Given the description of an element on the screen output the (x, y) to click on. 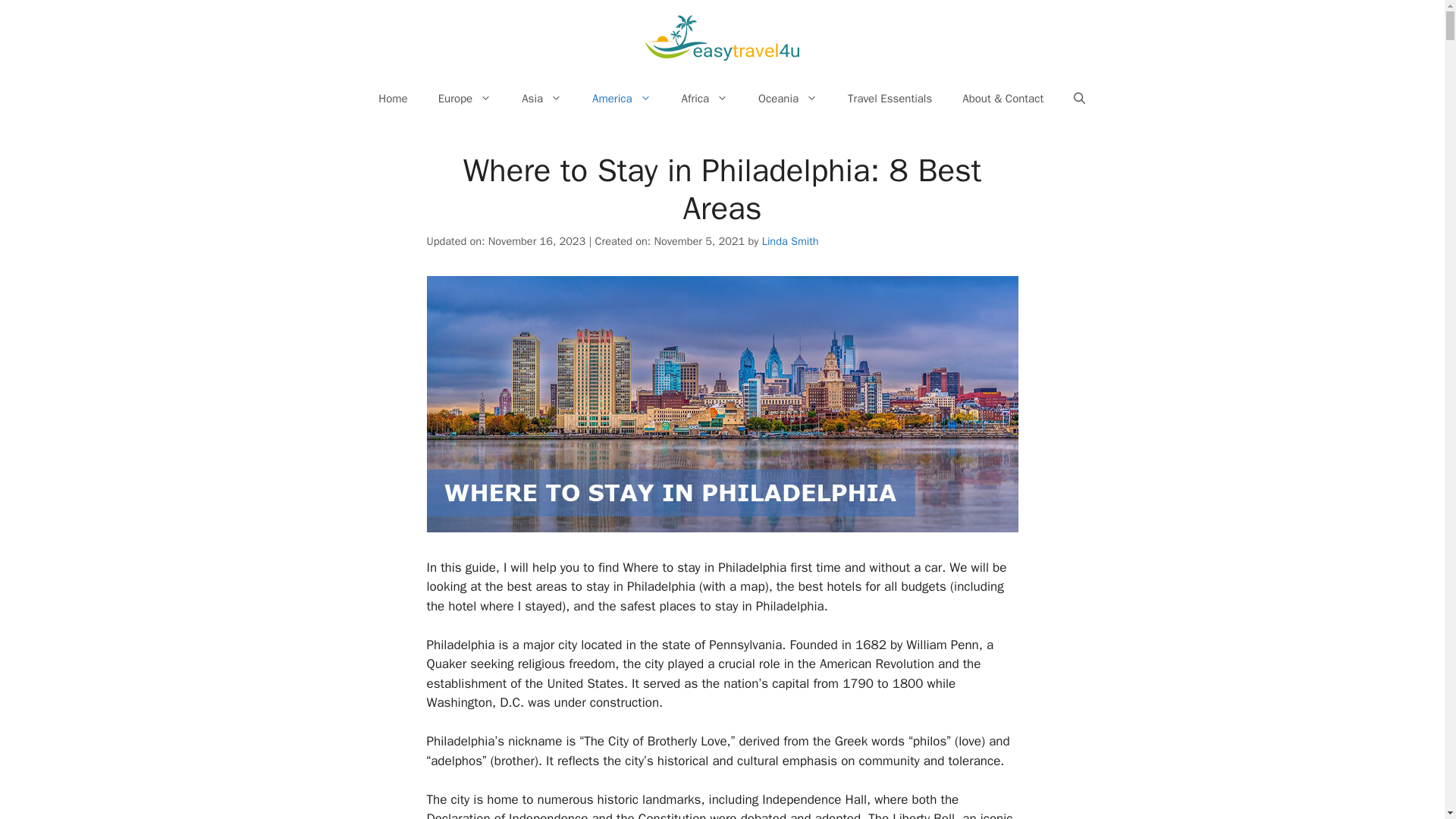
Europe (464, 98)
Home (392, 98)
View all posts by Linda Smith (789, 241)
